Given the description of an element on the screen output the (x, y) to click on. 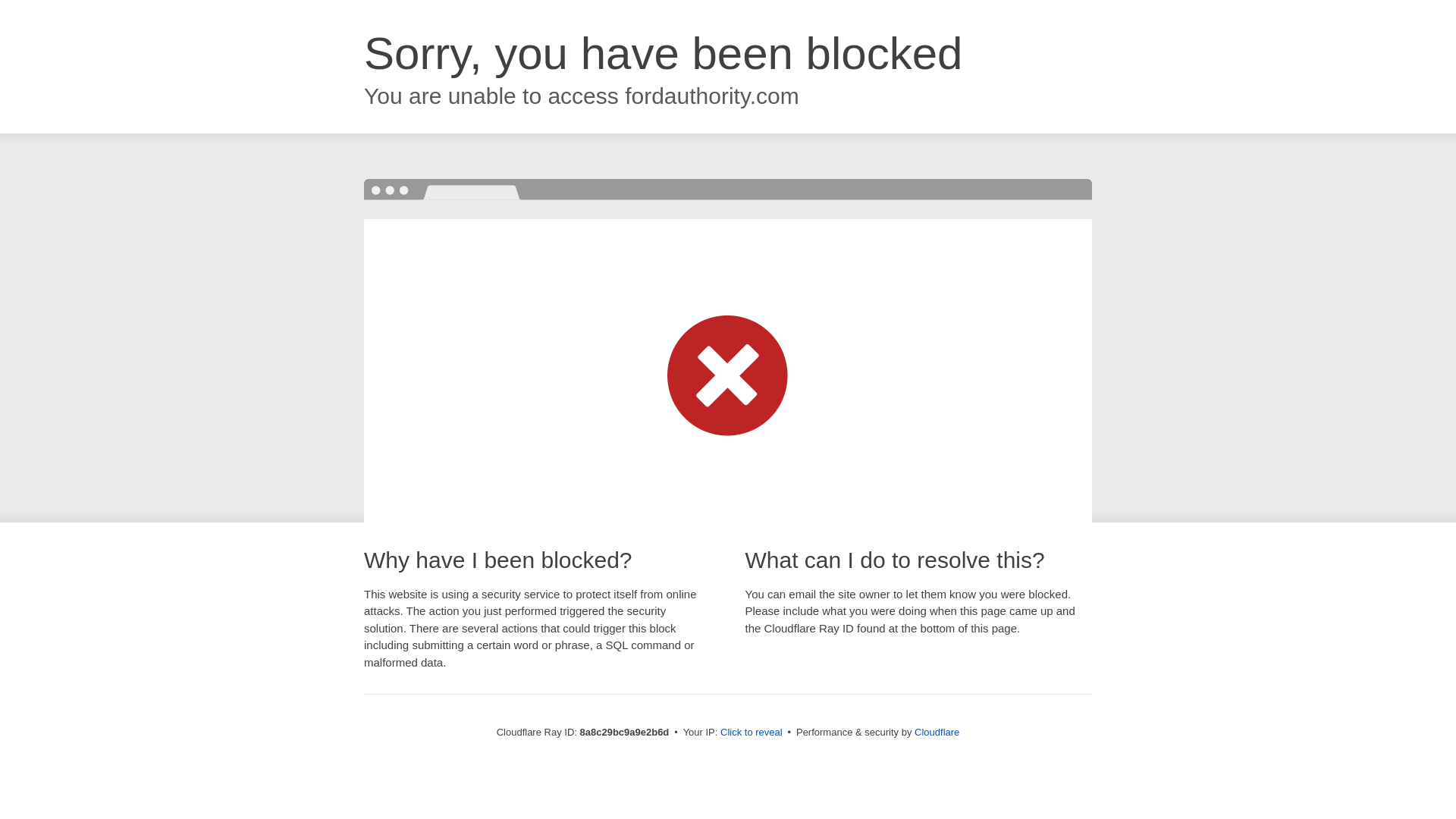
Click to reveal (751, 732)
Cloudflare (936, 731)
